Given the description of an element on the screen output the (x, y) to click on. 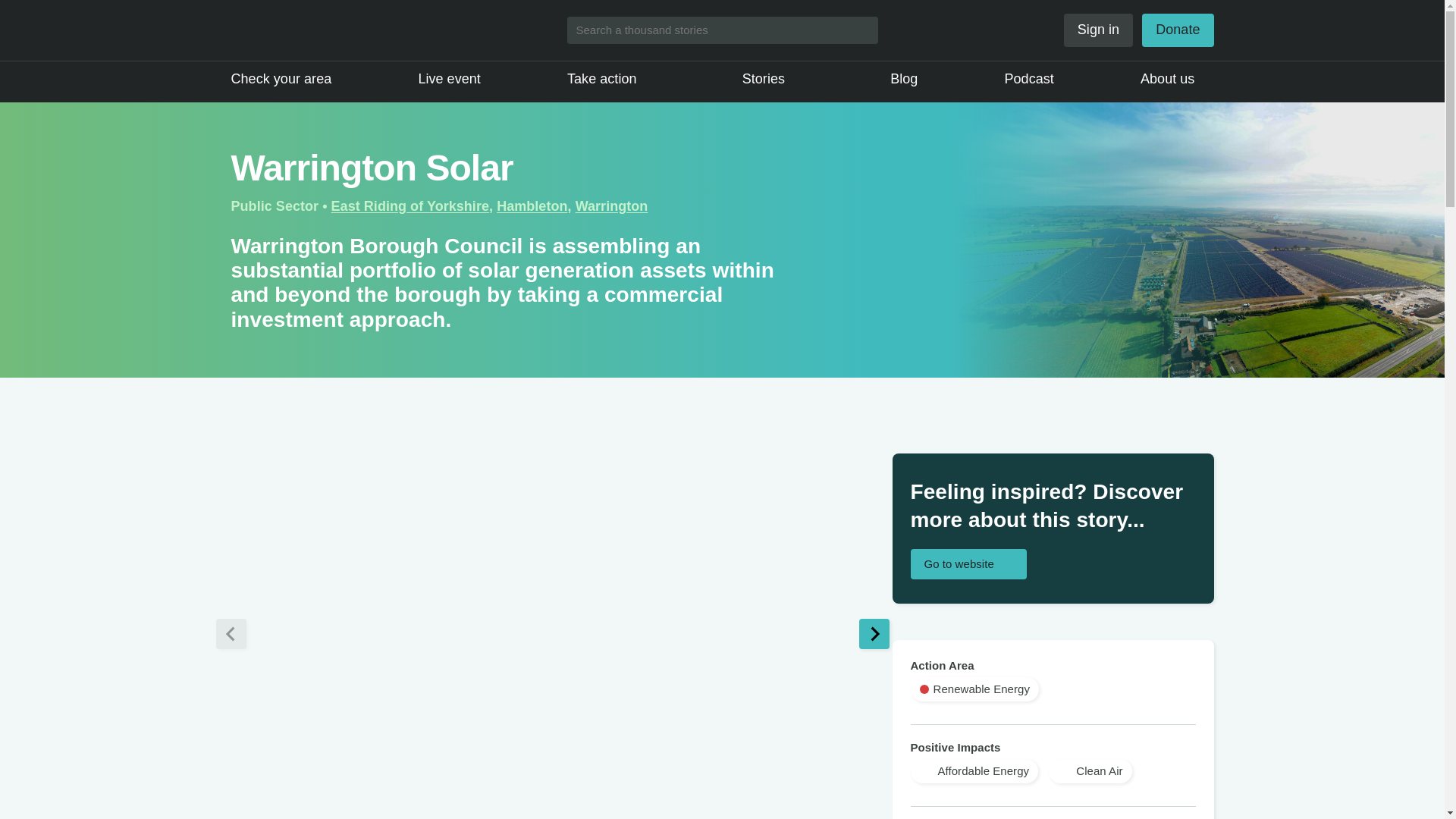
About us (1176, 78)
Sign in (1098, 29)
Donate (1176, 29)
Stories (772, 78)
Check your area (280, 78)
Podcast (1029, 78)
Blog (903, 78)
Take action (611, 78)
Homepage (311, 30)
Live event (448, 78)
